Given the description of an element on the screen output the (x, y) to click on. 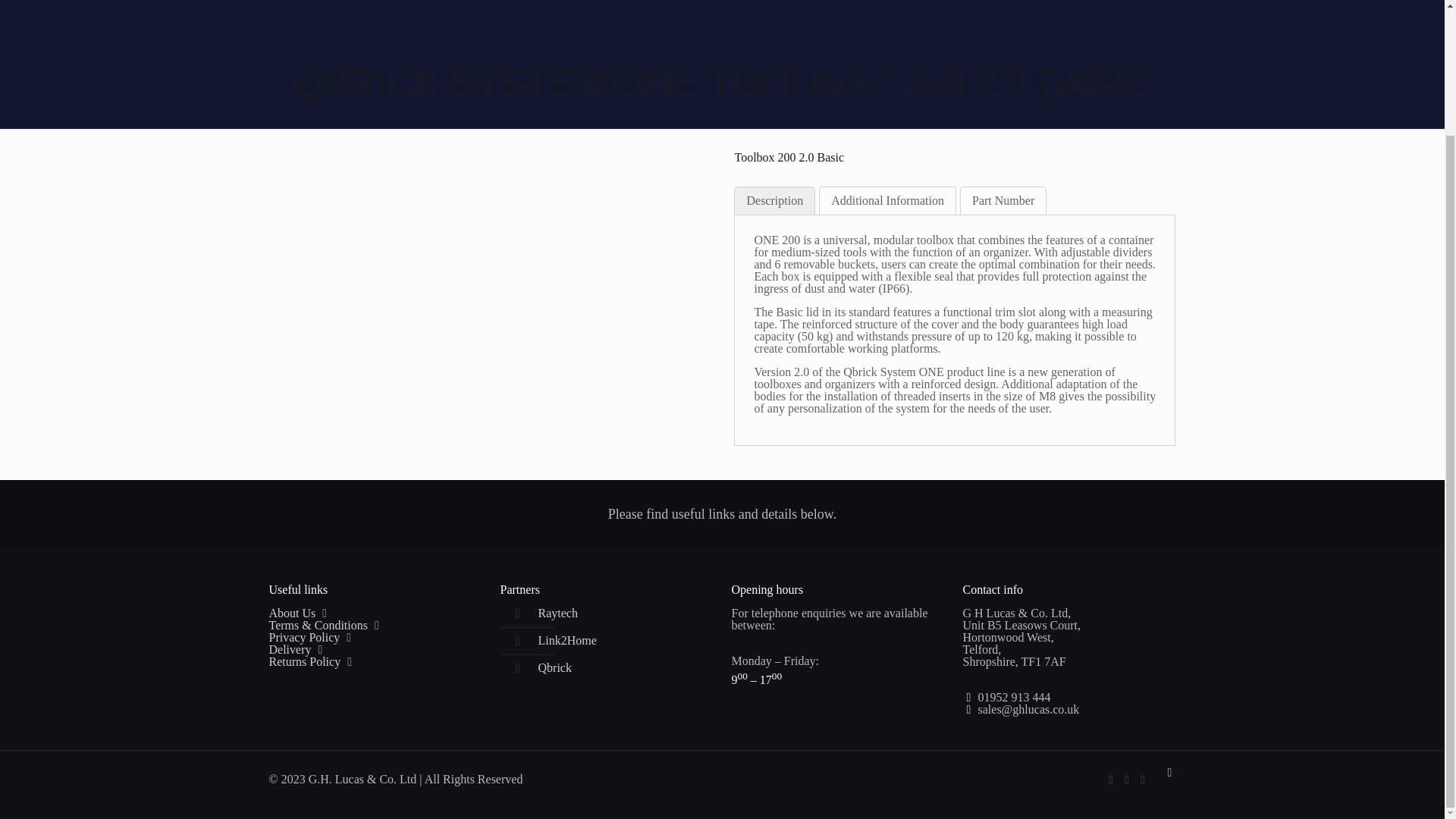
Link2Home (567, 640)
Qbrick (555, 667)
Delivery (289, 649)
Raytech (558, 612)
About Us (291, 612)
Returns Policy (303, 661)
Facebook (1110, 779)
Privacy Policy (303, 636)
